Given the description of an element on the screen output the (x, y) to click on. 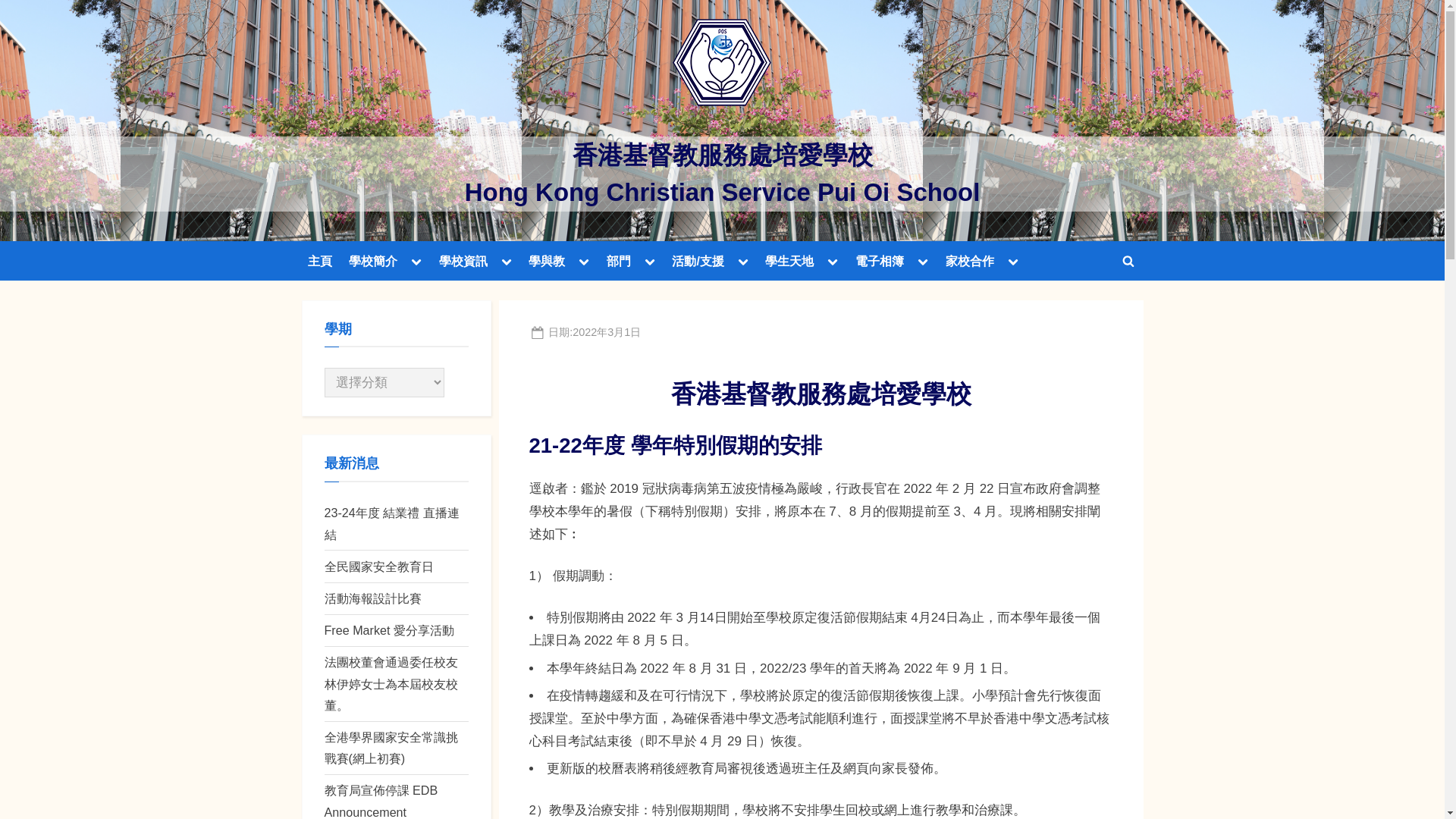
Toggle sub-menu (416, 260)
Toggle sub-menu (583, 260)
Toggle sub-menu (506, 260)
